Given the description of an element on the screen output the (x, y) to click on. 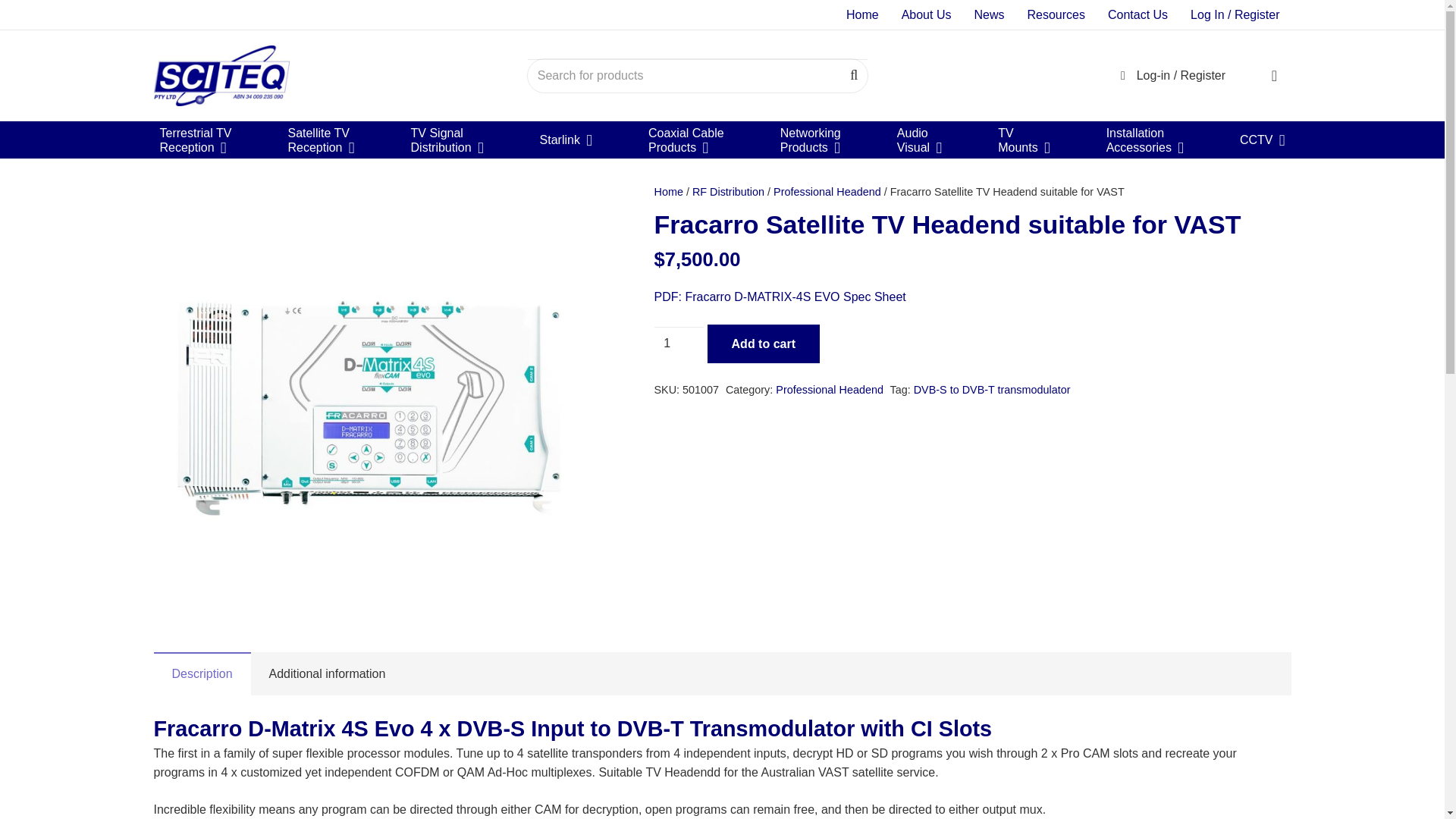
Home (446, 140)
D-MATRIX-4S EVO (861, 14)
Resources (320, 140)
About Us (194, 140)
Contact Us (1055, 14)
News (925, 14)
